Given the description of an element on the screen output the (x, y) to click on. 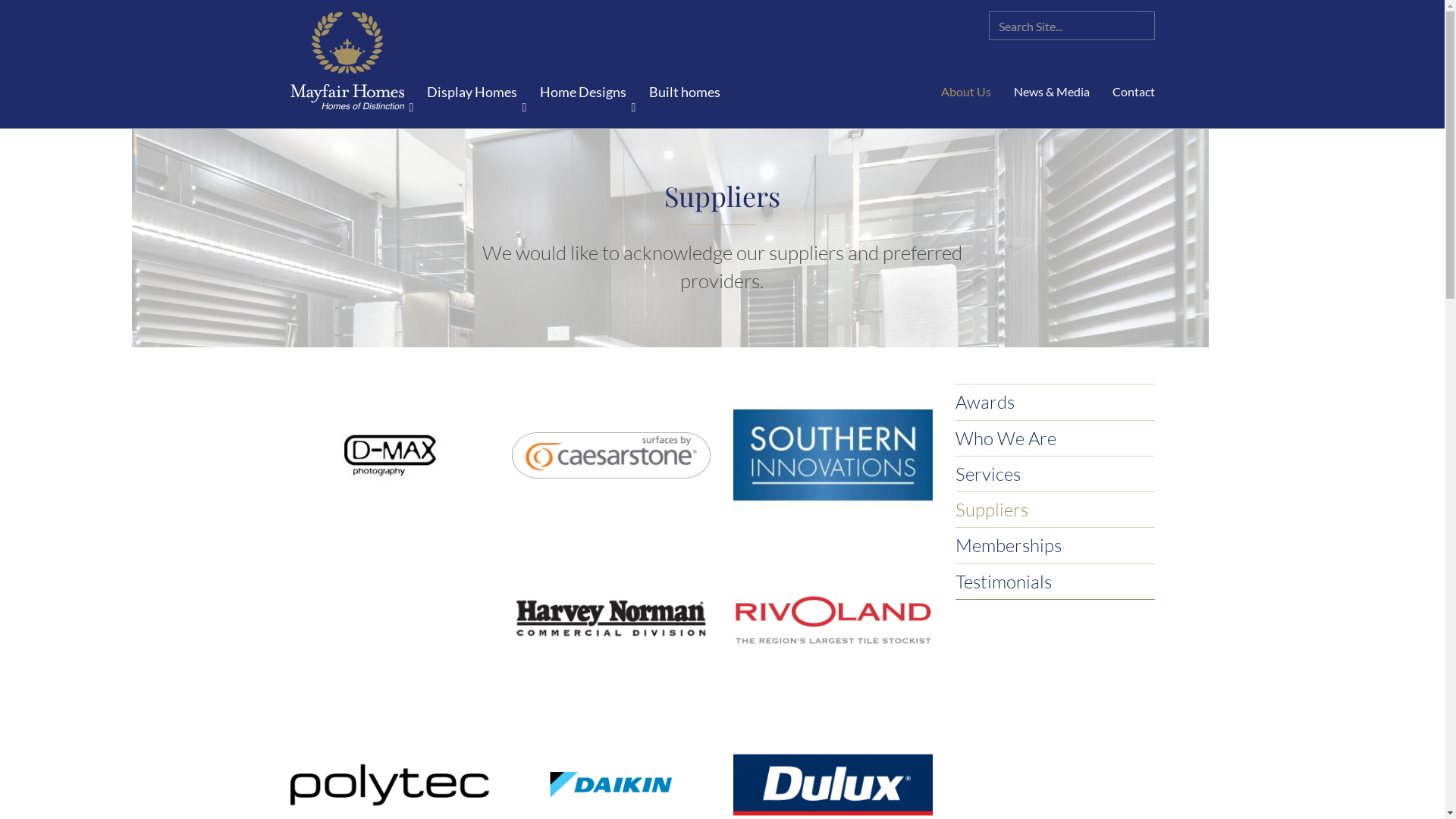
Testimonials Element type: text (1003, 581)
D-MAX Photography Element type: hover (388, 454)
About Us Element type: text (965, 91)
News & Media Element type: text (1051, 91)
Who We Are Element type: text (1005, 437)
Southern Innovations Element type: hover (832, 454)
Contact Element type: text (1127, 91)
Services Element type: text (987, 473)
Home Designs Element type: text (582, 91)
Memberships Element type: text (1008, 544)
Suppliers Element type: text (991, 509)
Mayfair Homes Element type: text (347, 62)
Built homes Element type: text (684, 91)
Caesarstone Element type: hover (610, 454)
Display Homes Element type: text (471, 91)
Awards Element type: text (984, 401)
